Given the description of an element on the screen output the (x, y) to click on. 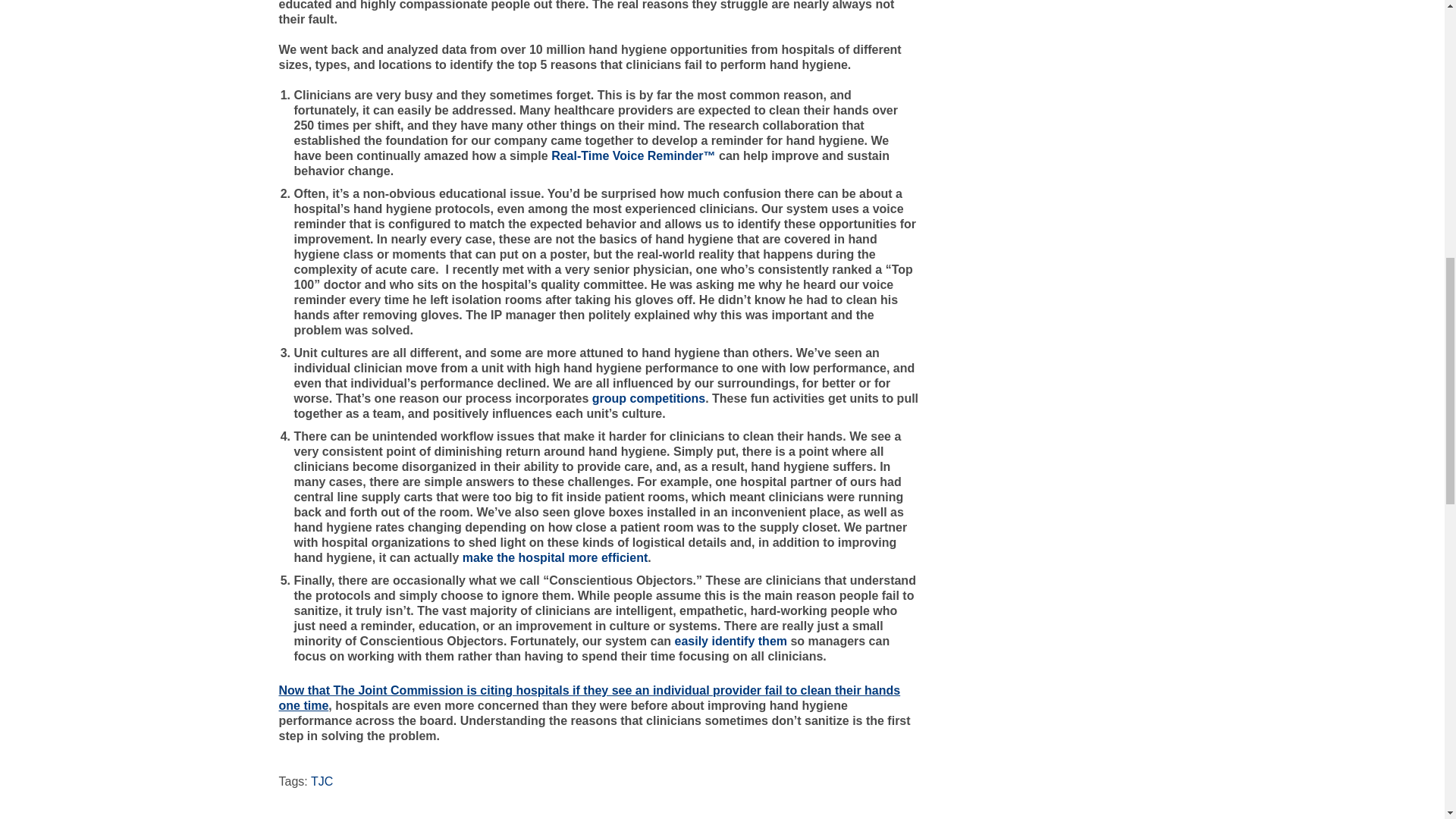
easily identify them (731, 640)
make the hospital more efficient (555, 557)
TJC (322, 780)
group competitions (648, 398)
